Given the description of an element on the screen output the (x, y) to click on. 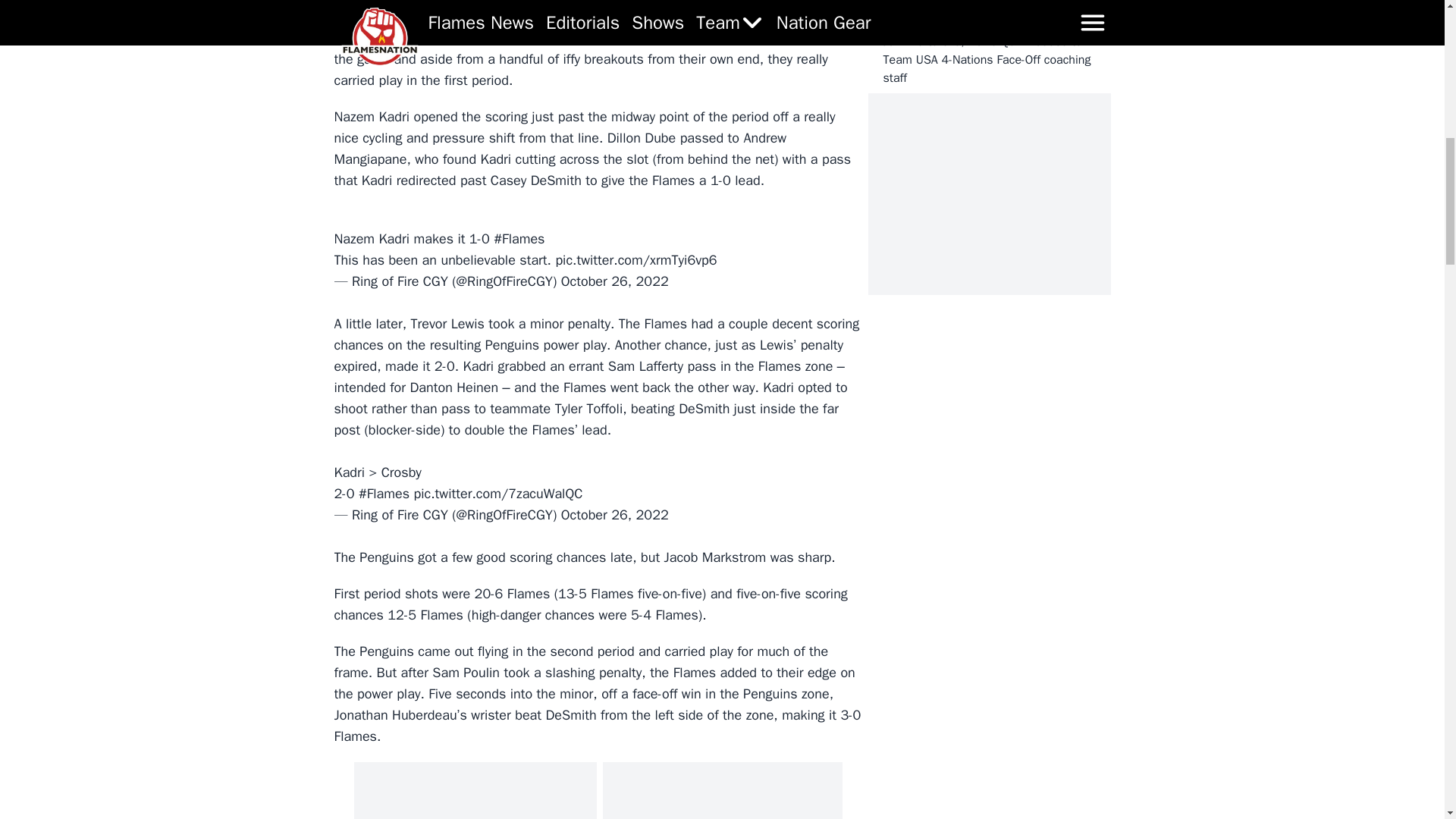
October 26, 2022 (614, 280)
October 26, 2022 (614, 514)
